Given the description of an element on the screen output the (x, y) to click on. 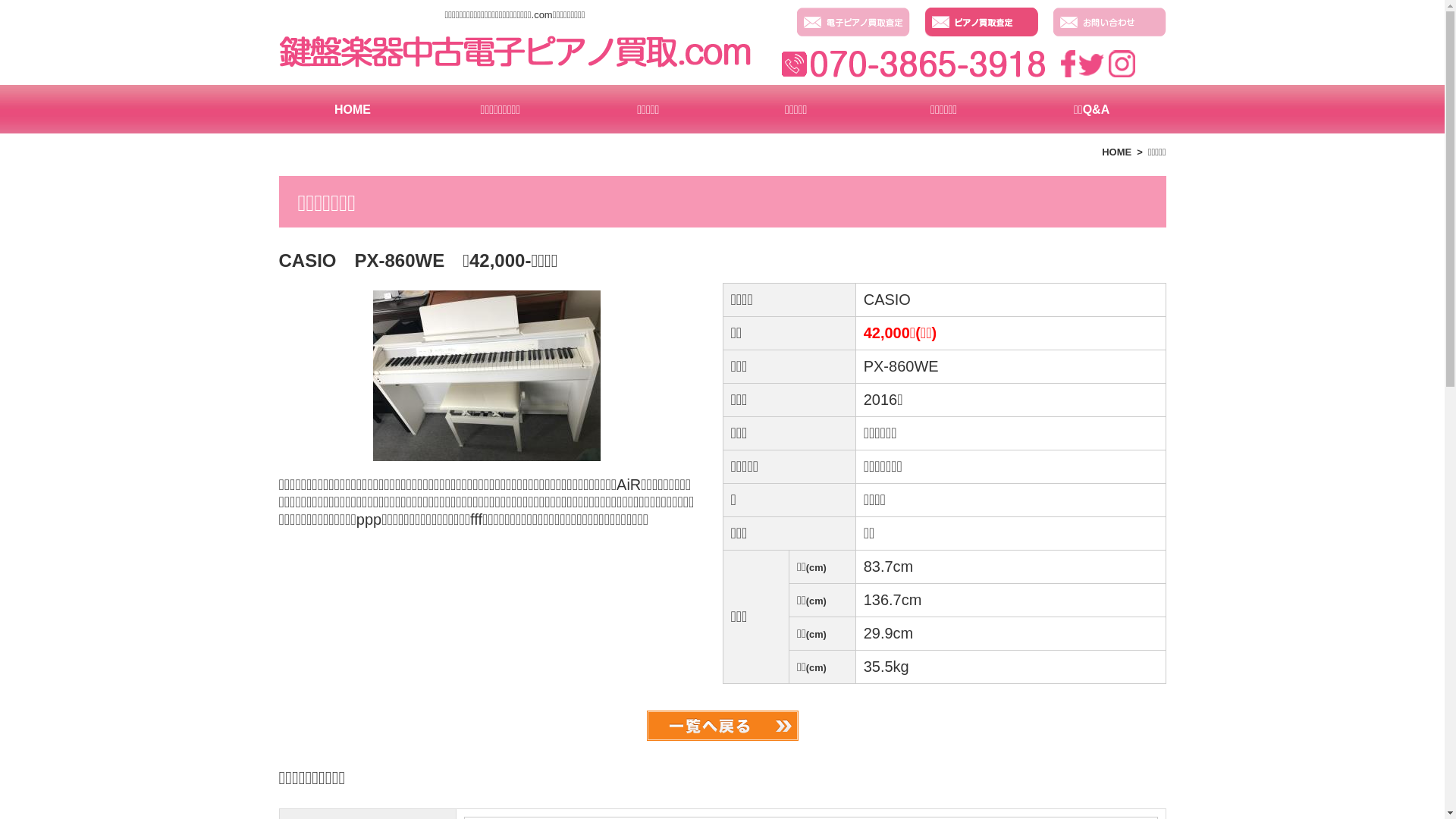
HOME Element type: text (352, 108)
HOME Element type: text (1116, 151)
